Given the description of an element on the screen output the (x, y) to click on. 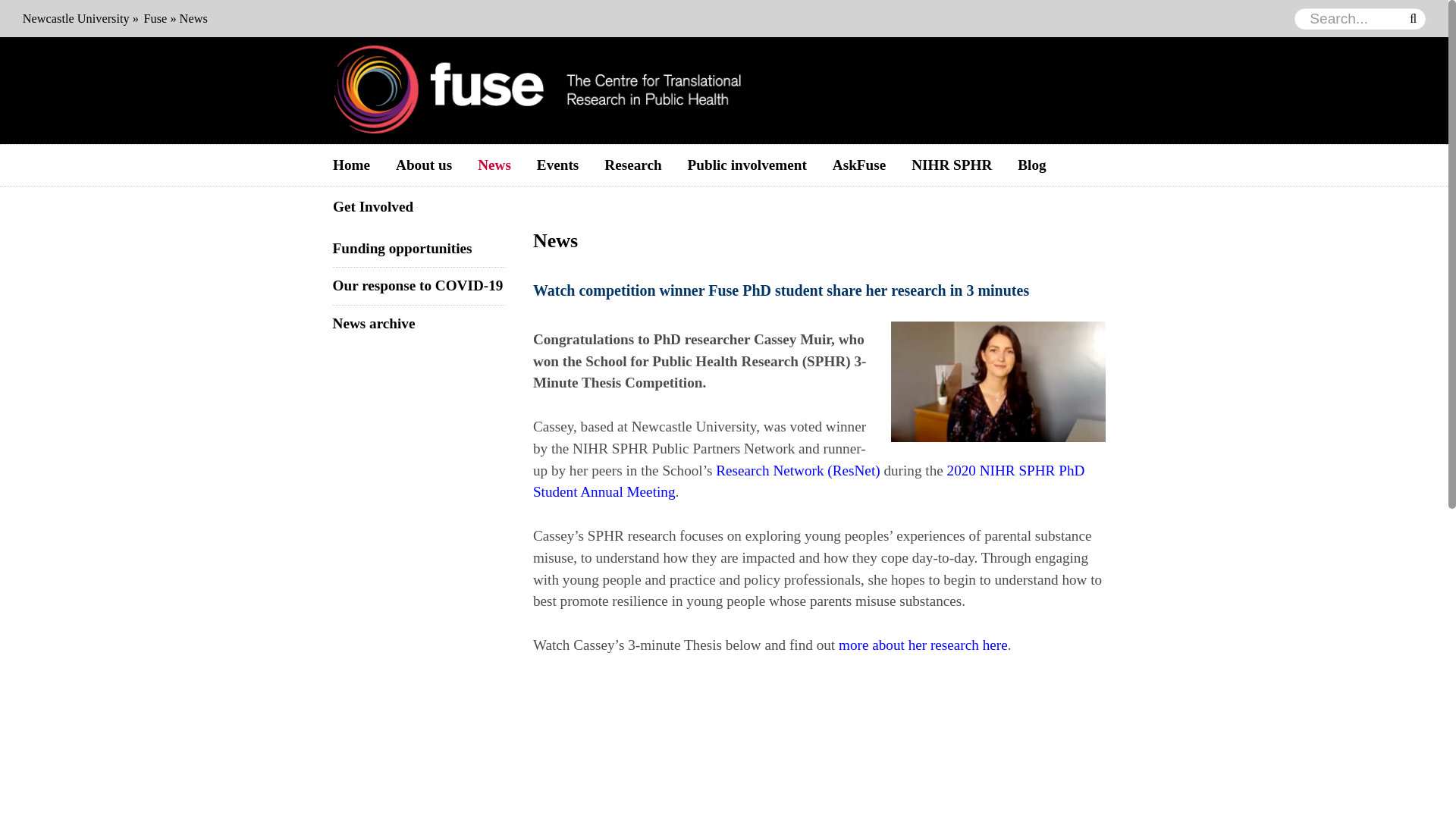
Fuse (154, 18)
News (494, 165)
Public involvement (747, 165)
News archive (373, 323)
NIHR SPHR (951, 165)
AskFuse (858, 165)
Newcastle University (76, 18)
Home (351, 165)
Research (632, 165)
About us (423, 165)
